Given the description of an element on the screen output the (x, y) to click on. 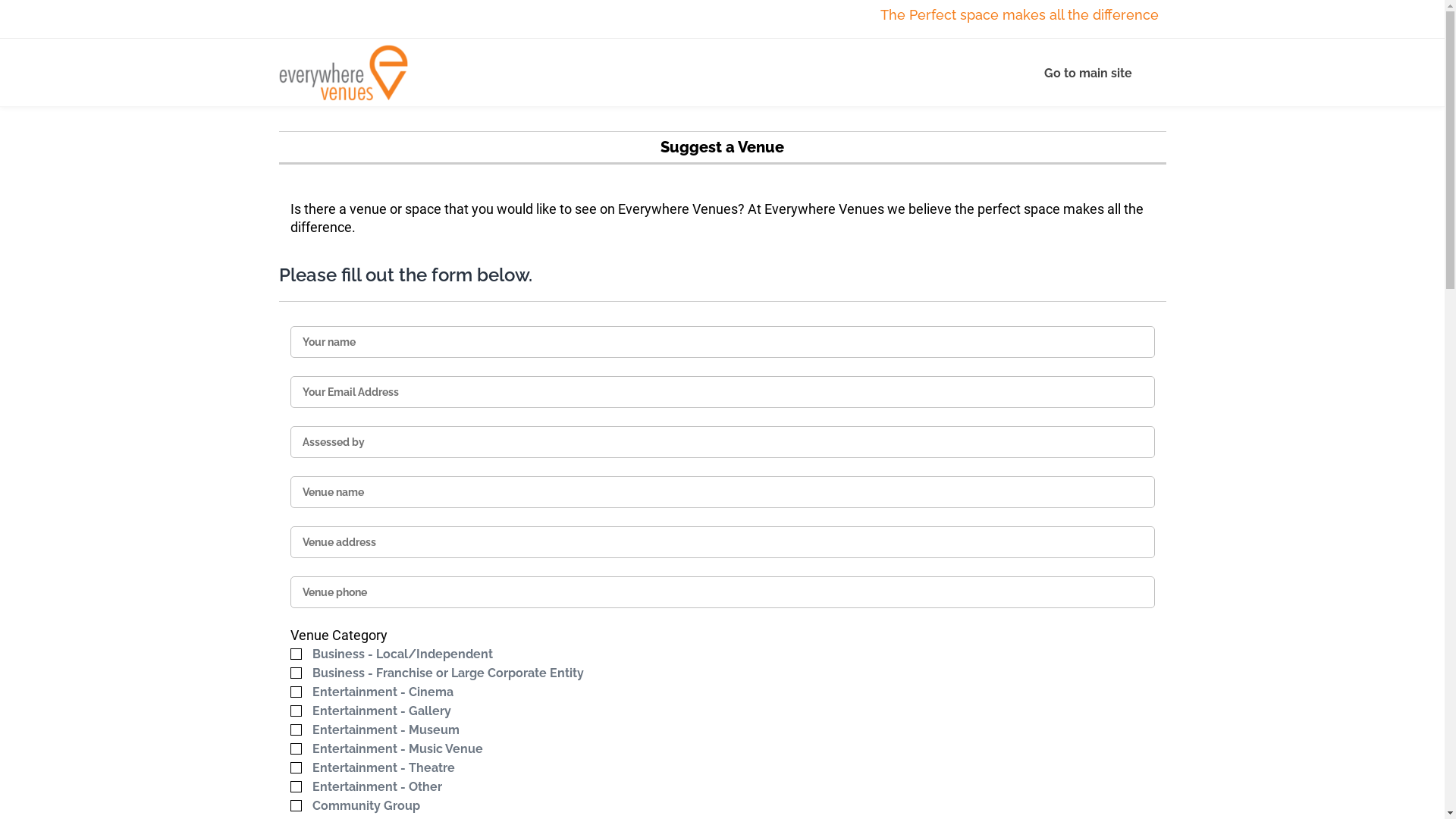
Go to main site Element type: text (1092, 72)
Everywhere Venues Element type: hover (343, 72)
